Given the description of an element on the screen output the (x, y) to click on. 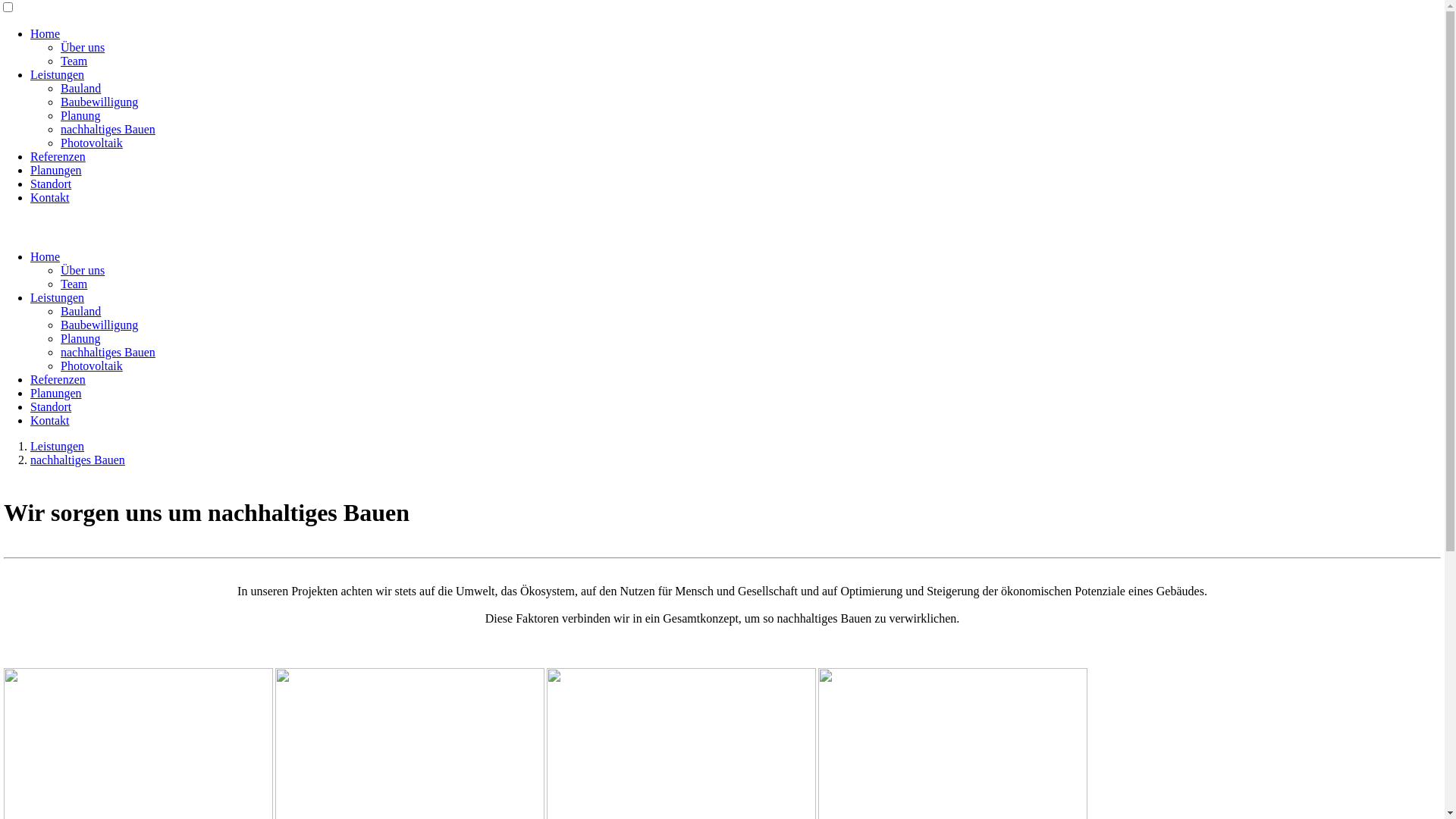
Planungen Element type: text (55, 169)
Team Element type: text (73, 60)
Bauland Element type: text (80, 87)
nachhaltiges Bauen Element type: text (77, 459)
Kontakt Element type: text (49, 197)
Kontakt Element type: text (49, 420)
Planungen Element type: text (55, 392)
Baubewilligung Element type: text (99, 324)
Photovoltaik Element type: text (91, 365)
nachhaltiges Bauen Element type: text (107, 128)
Leistungen Element type: text (57, 445)
Referenzen Element type: text (57, 379)
Leistungen Element type: text (57, 74)
Standort Element type: text (50, 406)
Team Element type: text (73, 283)
Home Element type: text (44, 33)
Standort Element type: text (50, 183)
Bauland Element type: text (80, 310)
Baubewilligung Element type: text (99, 101)
Planung Element type: text (80, 338)
Leistungen Element type: text (57, 297)
Photovoltaik Element type: text (91, 142)
nachhaltiges Bauen Element type: text (107, 351)
Planung Element type: text (80, 115)
Referenzen Element type: text (57, 156)
Home Element type: text (44, 256)
